Given the description of an element on the screen output the (x, y) to click on. 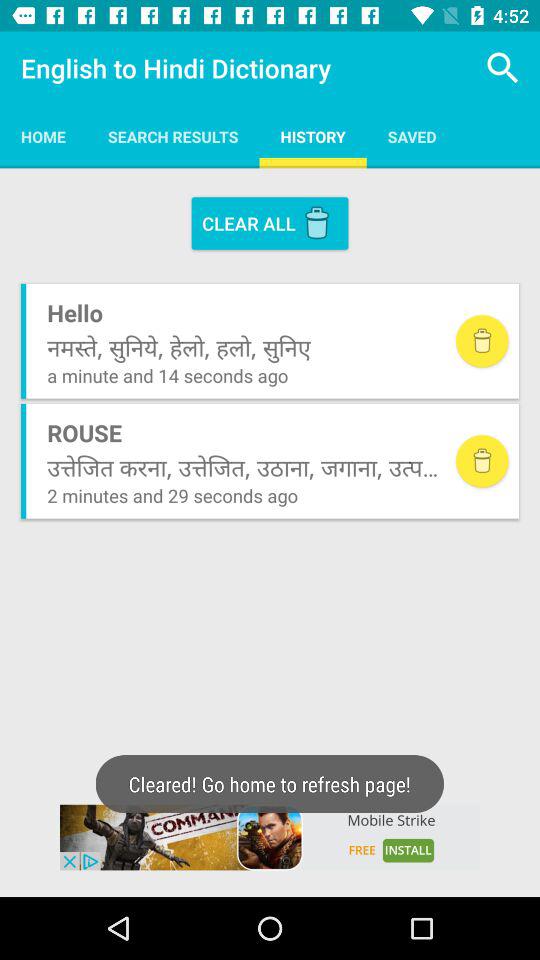
delete entry (482, 341)
